Given the description of an element on the screen output the (x, y) to click on. 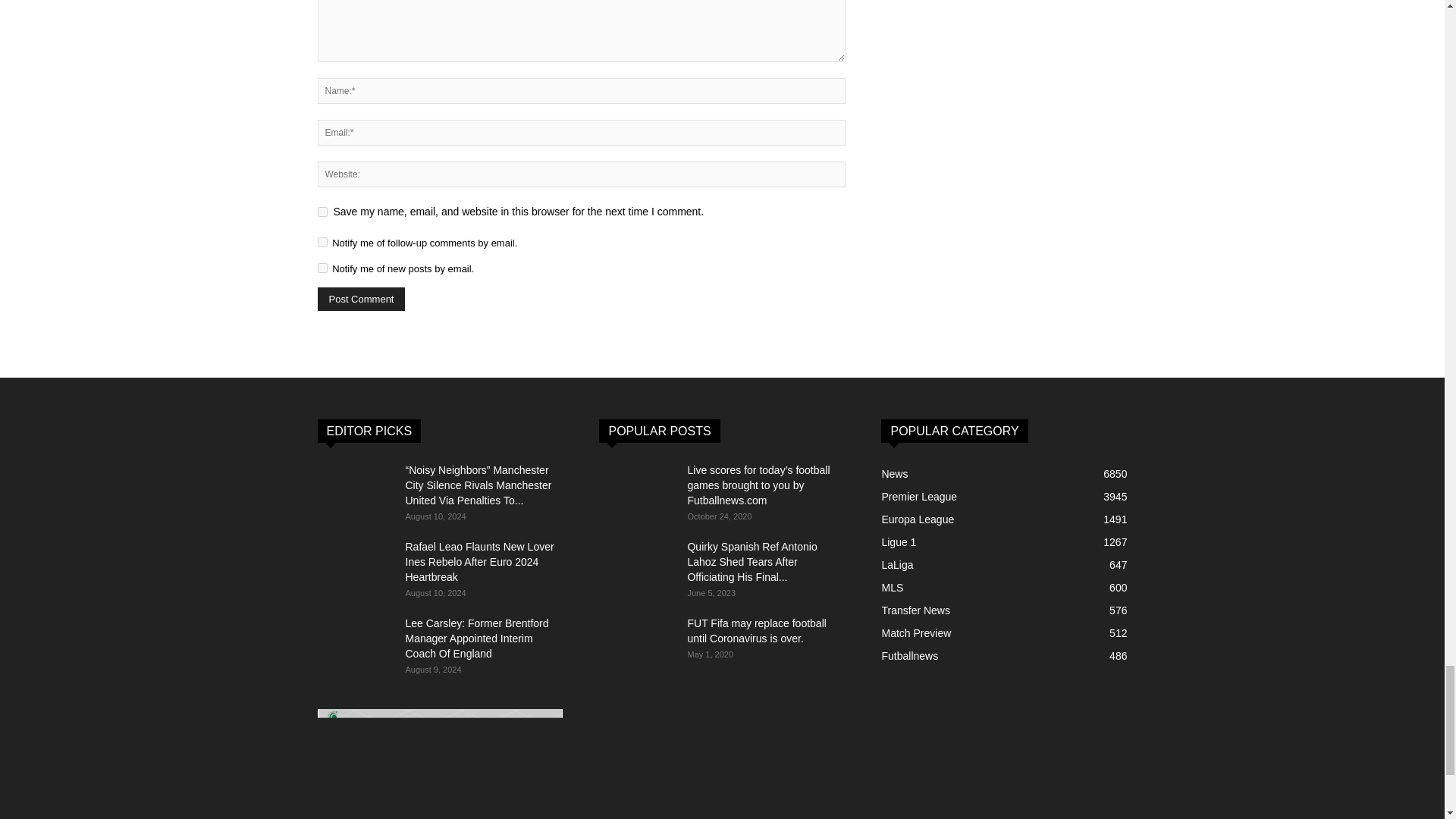
subscribe (321, 267)
Post Comment (360, 299)
yes (321, 212)
subscribe (321, 242)
